Given the description of an element on the screen output the (x, y) to click on. 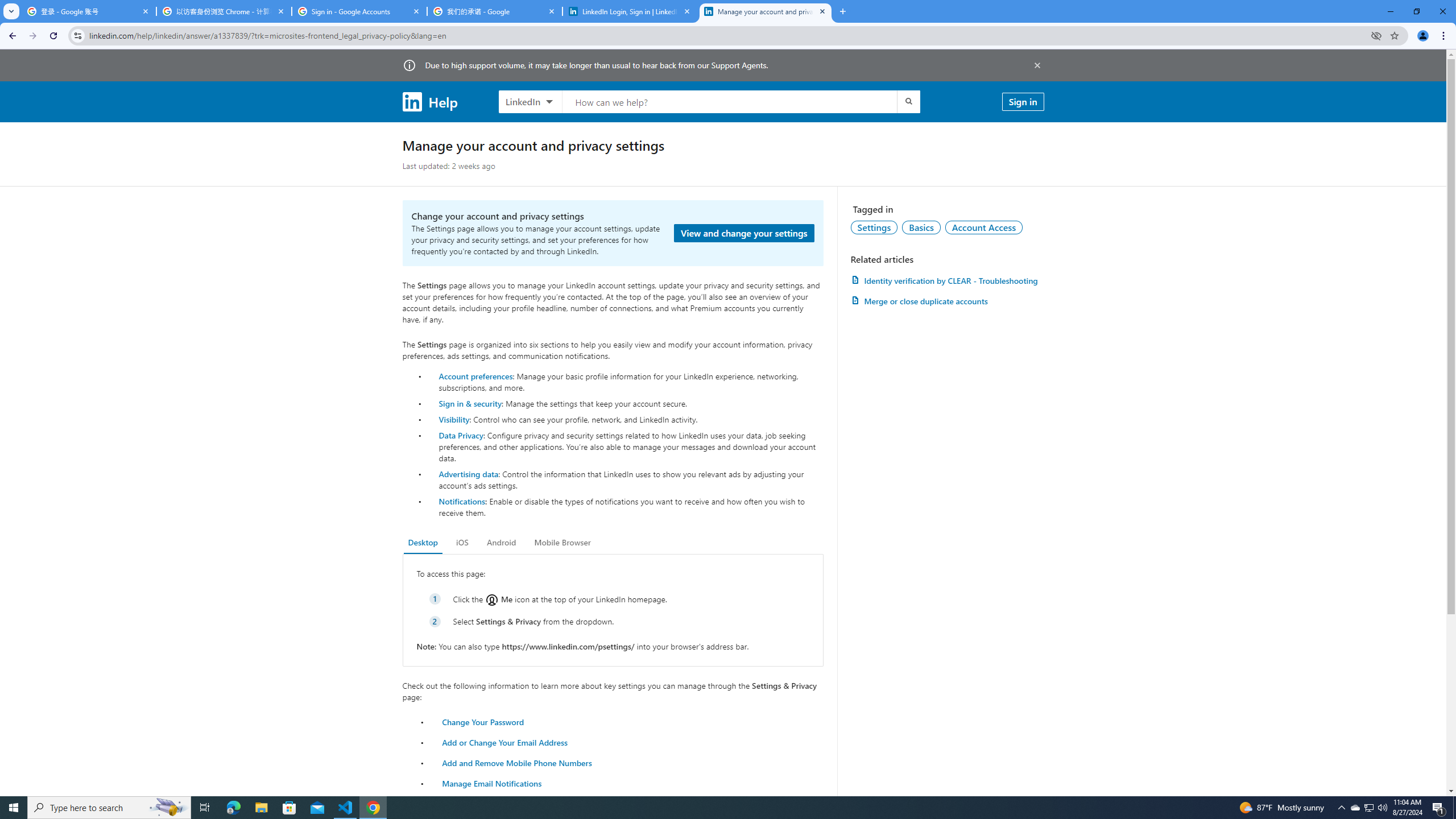
Notifications (461, 500)
Help (429, 101)
Basics (921, 227)
Submit search (908, 101)
Visibility (454, 419)
Add or Change Your Email Address (504, 741)
Merge or close duplicate accounts (946, 300)
LinkedIn Login, Sign in | LinkedIn (630, 11)
Manage your account and privacy settings | LinkedIn Help (765, 11)
AutomationID: topic-link-a151002 (983, 227)
